Given the description of an element on the screen output the (x, y) to click on. 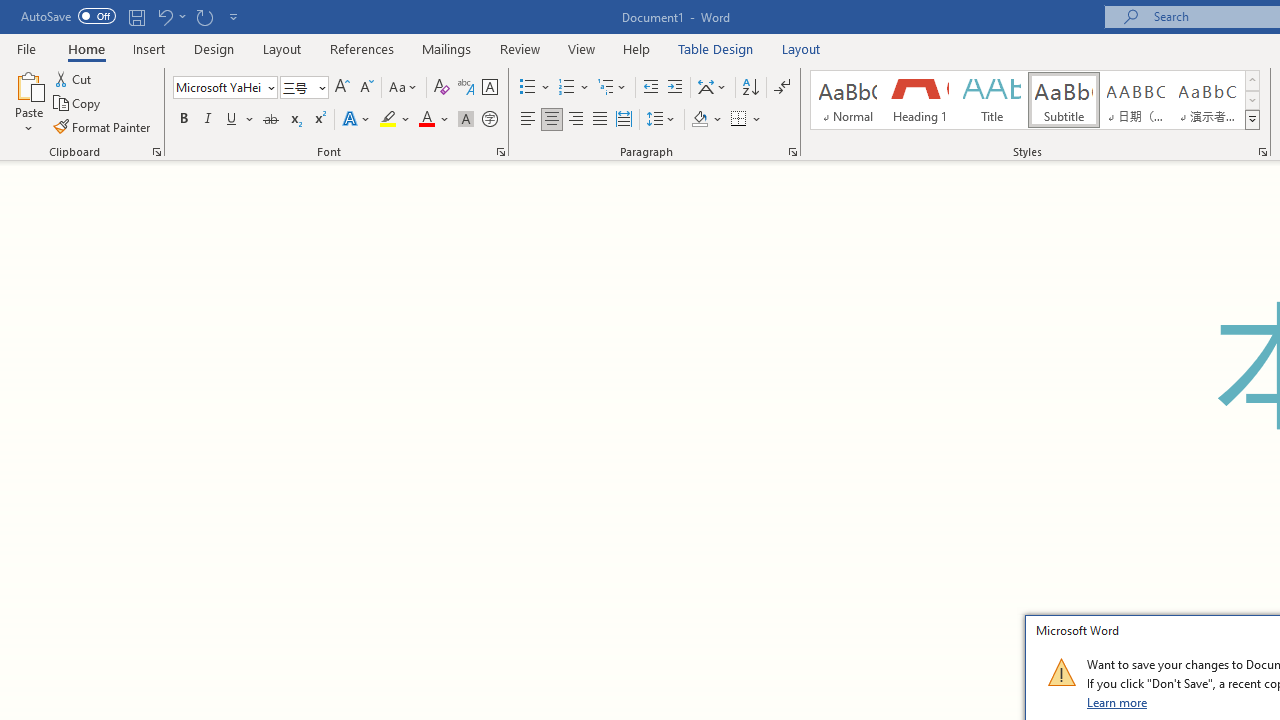
Learn more (1118, 702)
Undo Superscript (164, 15)
